Given the description of an element on the screen output the (x, y) to click on. 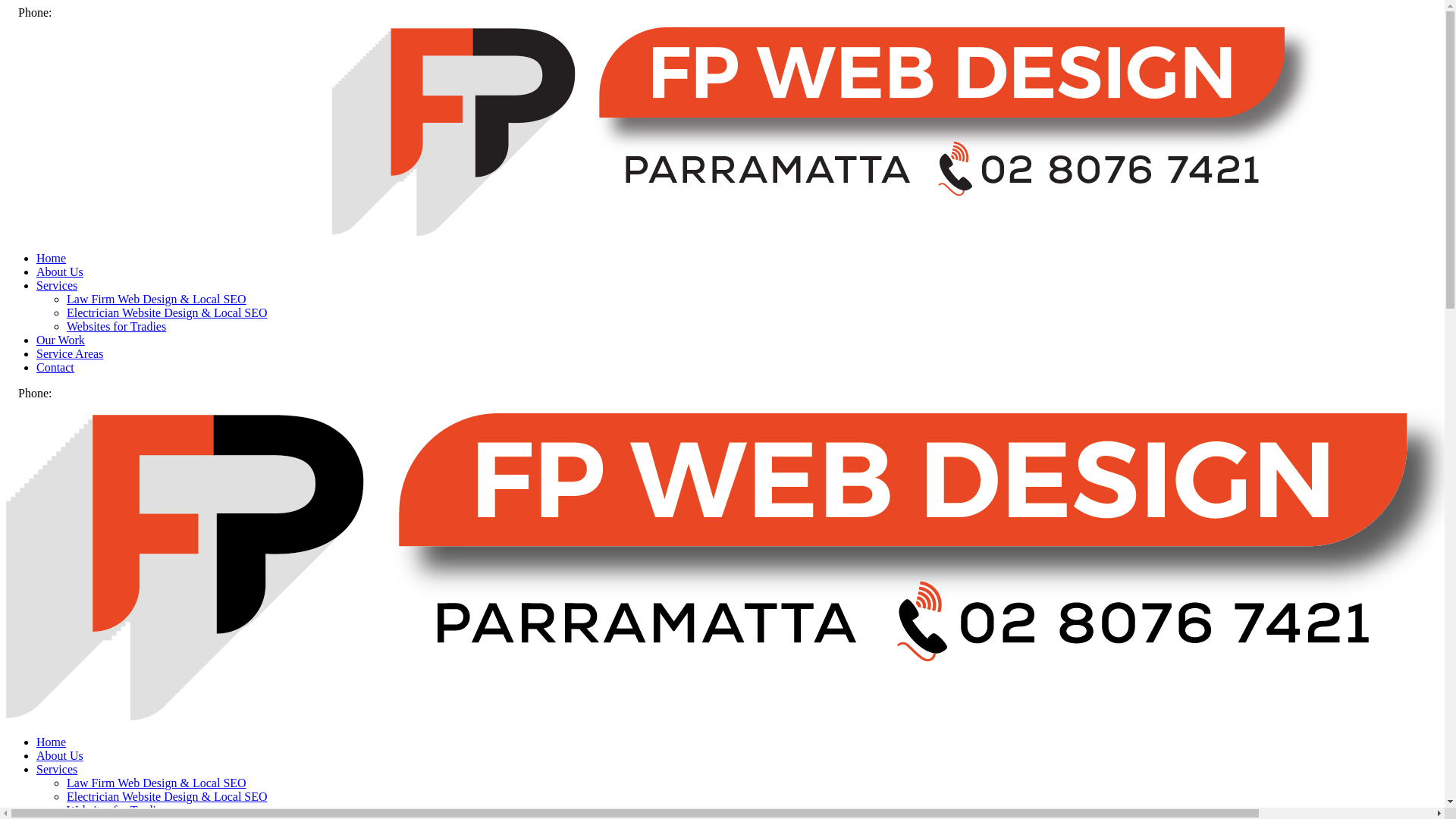
About Us Element type: text (59, 271)
Home Element type: text (50, 741)
(02) 8076 7421 Element type: text (91, 392)
Law Firm Web Design & Local SEO Element type: text (156, 298)
Websites for Tradies Element type: text (116, 809)
Electrician Website Design & Local SEO Element type: text (166, 312)
(02) 8076 7421 Element type: text (91, 12)
About Us Element type: text (59, 755)
Websites for Tradies Element type: text (116, 326)
Electrician Website Design & Local SEO Element type: text (166, 796)
Services Element type: text (56, 768)
Law Firm Web Design & Local SEO Element type: text (156, 782)
Our Work Element type: text (60, 339)
Contact Element type: text (55, 366)
Service Areas Element type: text (69, 353)
Services Element type: text (56, 285)
Home Element type: text (50, 257)
